Given the description of an element on the screen output the (x, y) to click on. 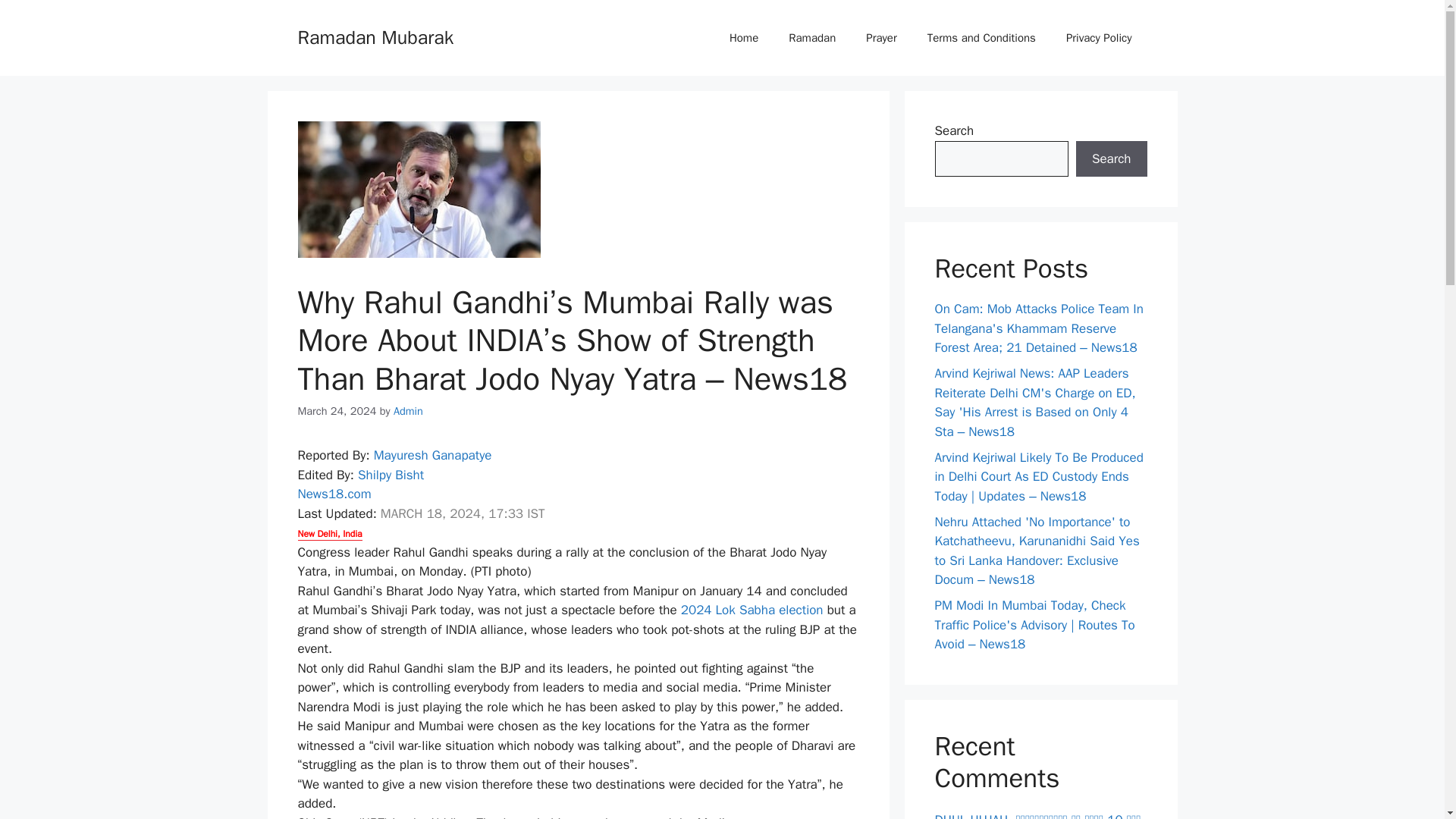
Prayer (880, 37)
Ramadan Mubarak (374, 37)
Search (1111, 158)
Mayuresh Ganapatye (433, 455)
Home (743, 37)
Terms and Conditions (981, 37)
Privacy Policy (1099, 37)
Ramadan (811, 37)
New Delhi, India (329, 533)
News18.com (334, 494)
View all posts by Admin (408, 410)
2024 Lok Sabha election (754, 609)
Admin (408, 410)
Shilpy Bisht (390, 474)
